Given the description of an element on the screen output the (x, y) to click on. 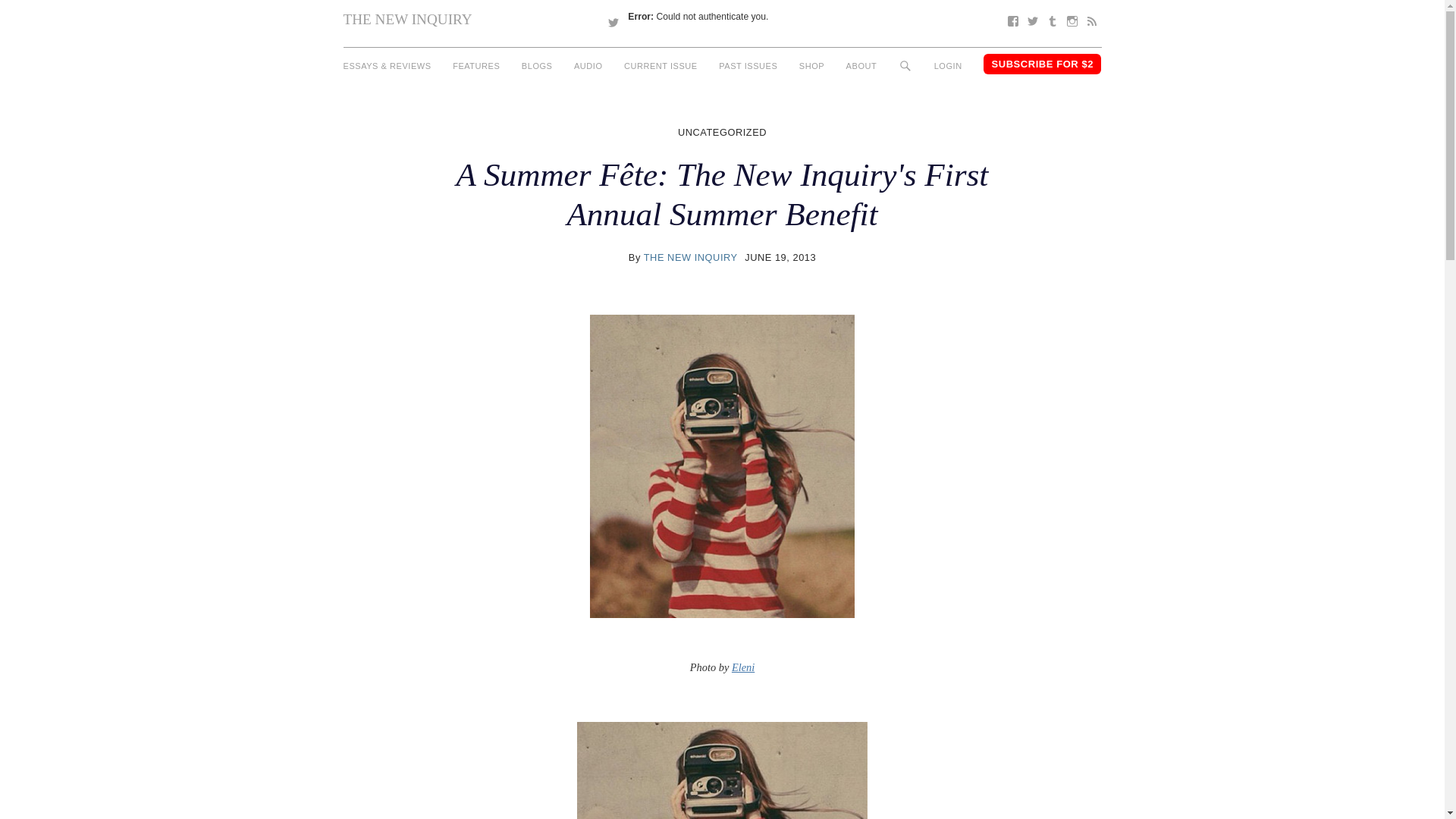
AUDIO (587, 66)
ABOUT (861, 66)
CURRENT ISSUE (660, 66)
LOGIN (948, 66)
PAST ISSUES (748, 66)
Twitter (1032, 21)
11:24 am (779, 256)
Facebook (1012, 21)
THE NEW INQUIRY (406, 19)
JUNE 19, 2013 (779, 256)
BLOGS (537, 66)
girl (721, 770)
SHOP (811, 66)
Tumblr (1051, 21)
